Given the description of an element on the screen output the (x, y) to click on. 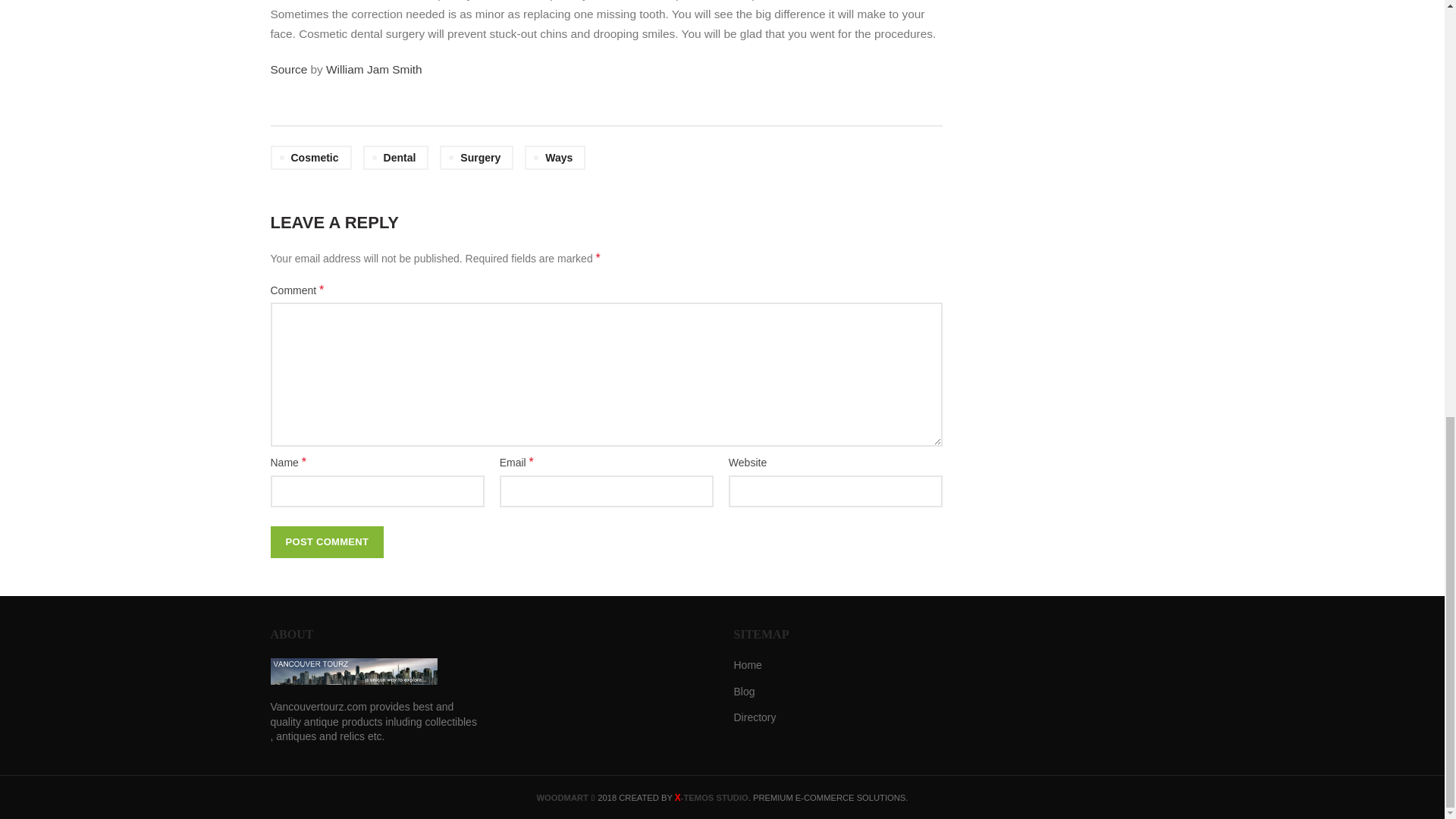
Cosmetic (309, 157)
Source (288, 69)
Blog (745, 692)
Post Comment (326, 541)
Ways (554, 157)
Post Comment (326, 541)
Surgery (476, 157)
WOODMART (562, 797)
X-TEMOS STUDIO (711, 797)
William Jam Smith (374, 69)
Directory (755, 717)
Home (747, 665)
Dental (395, 157)
